Given the description of an element on the screen output the (x, y) to click on. 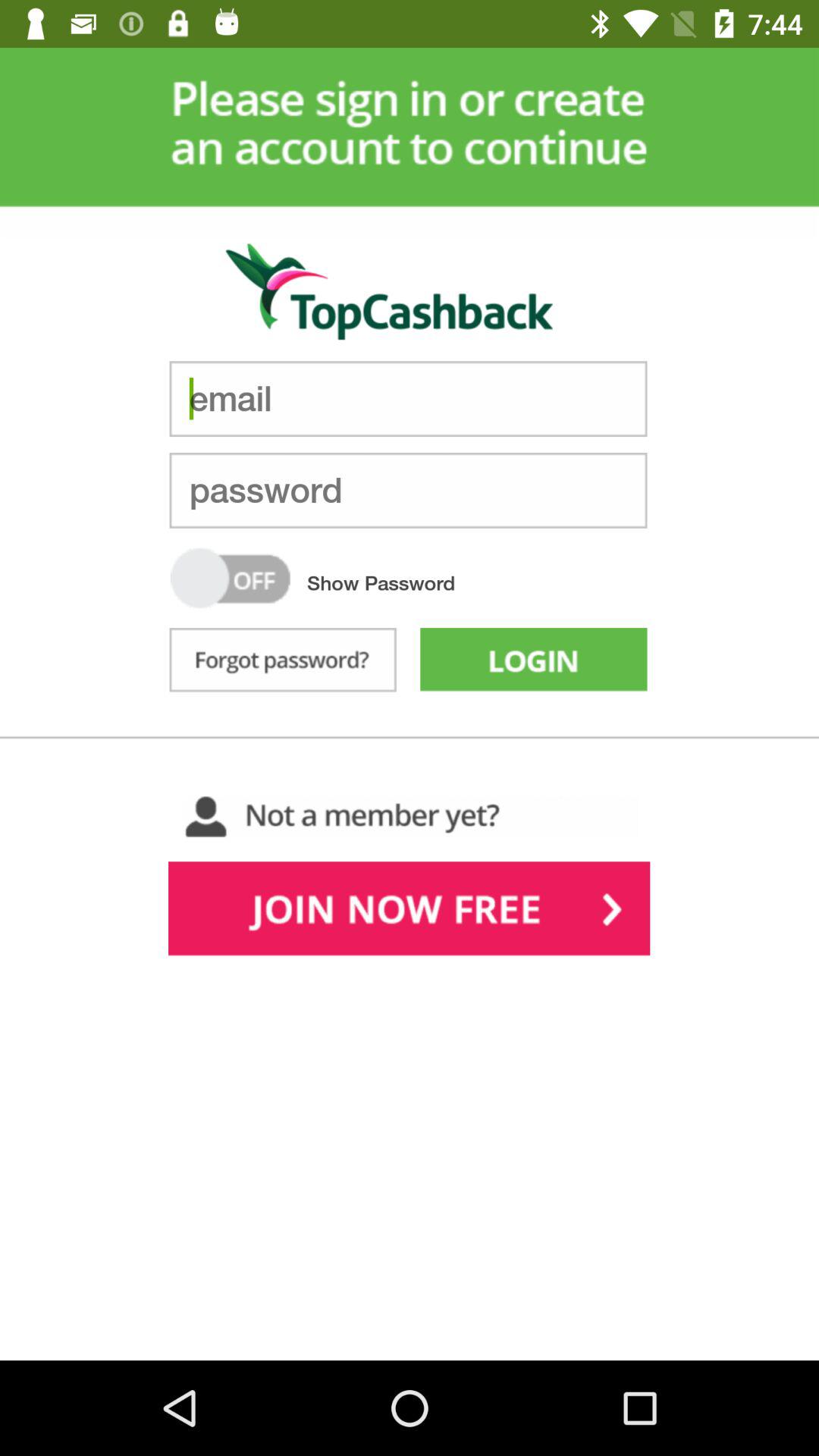
logs the user in (533, 662)
